Given the description of an element on the screen output the (x, y) to click on. 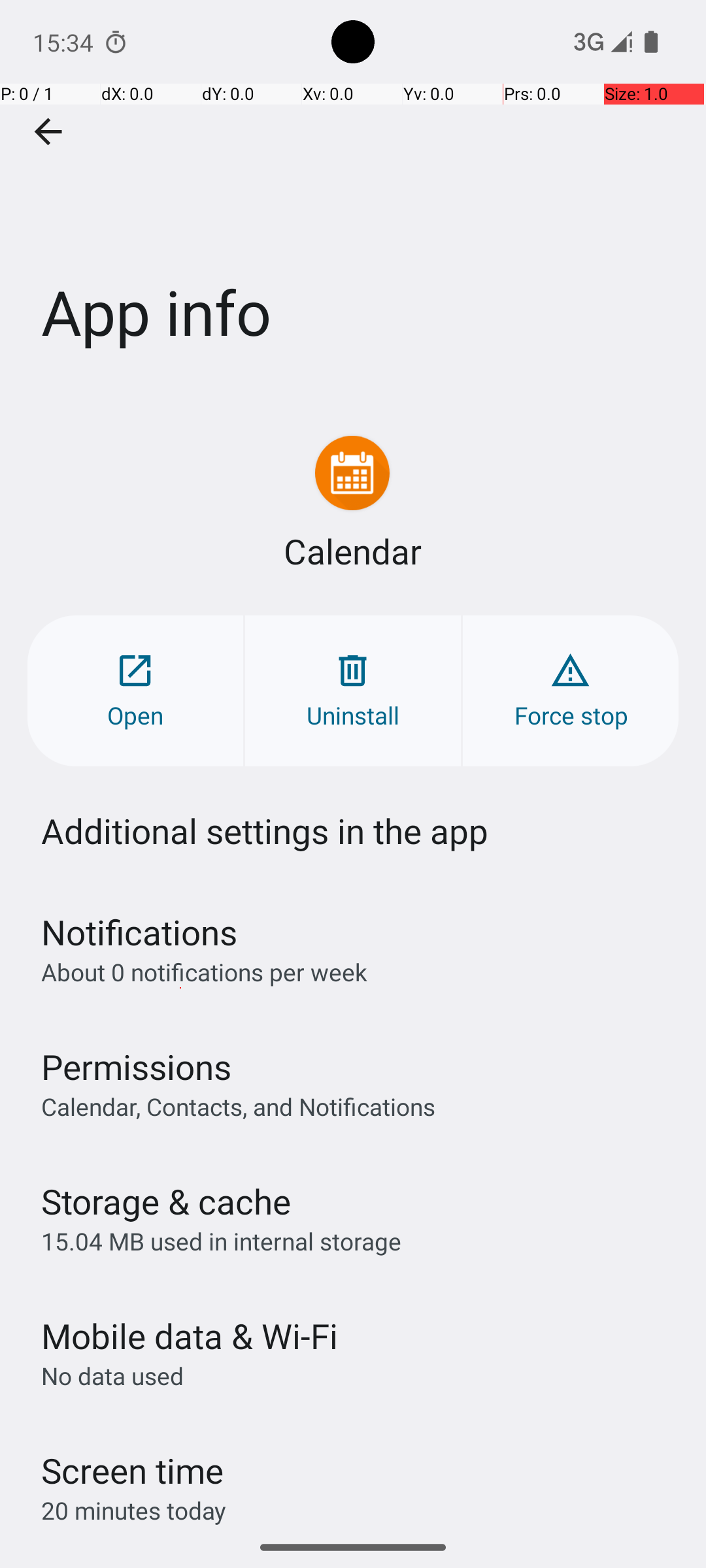
Additional settings in the app Element type: android.widget.TextView (264, 830)
Calendar, Contacts, and Notifications Element type: android.widget.TextView (238, 1106)
15.04 MB used in internal storage Element type: android.widget.TextView (221, 1240)
20 minutes today Element type: android.widget.TextView (133, 1509)
